Given the description of an element on the screen output the (x, y) to click on. 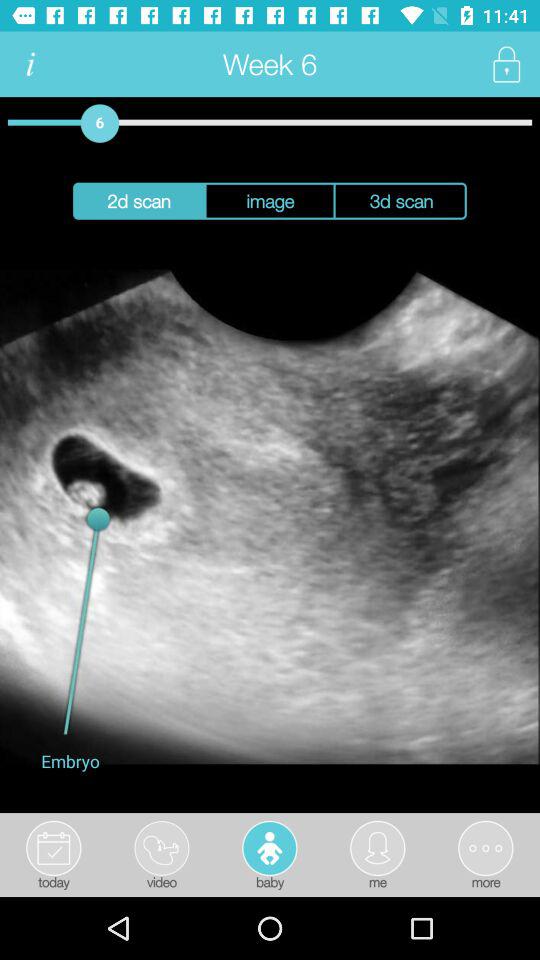
press the item next to the week 6 item (30, 63)
